Given the description of an element on the screen output the (x, y) to click on. 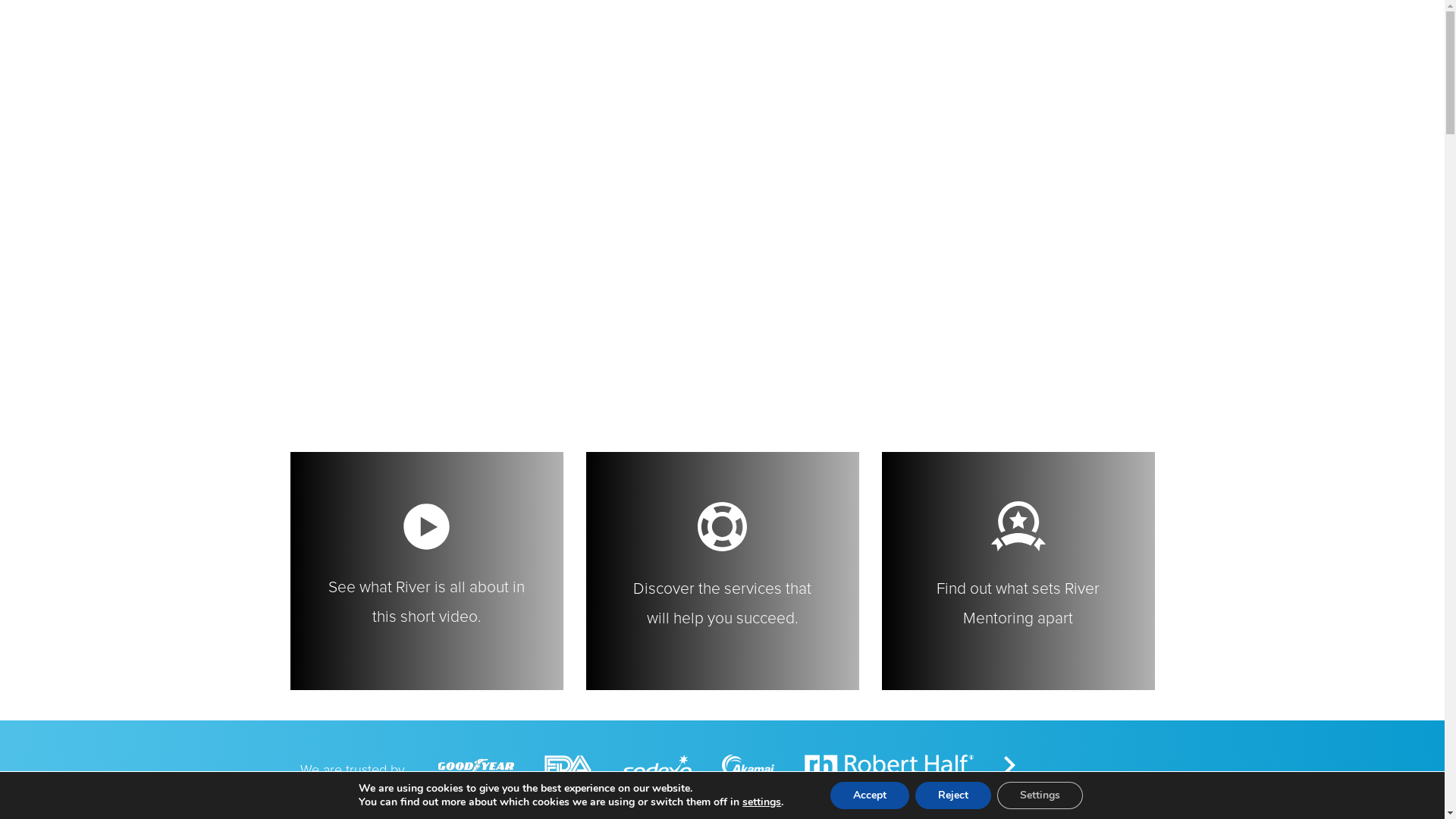
Pricing Element type: text (977, 42)
Software Element type: text (751, 42)
Accept Element type: text (869, 795)
More Element type: text (1122, 42)
Settings Element type: text (1039, 795)
Clients Element type: text (823, 42)
Reject Element type: text (953, 795)
Company Element type: text (1052, 42)
Resources Element type: text (899, 42)
